Given the description of an element on the screen output the (x, y) to click on. 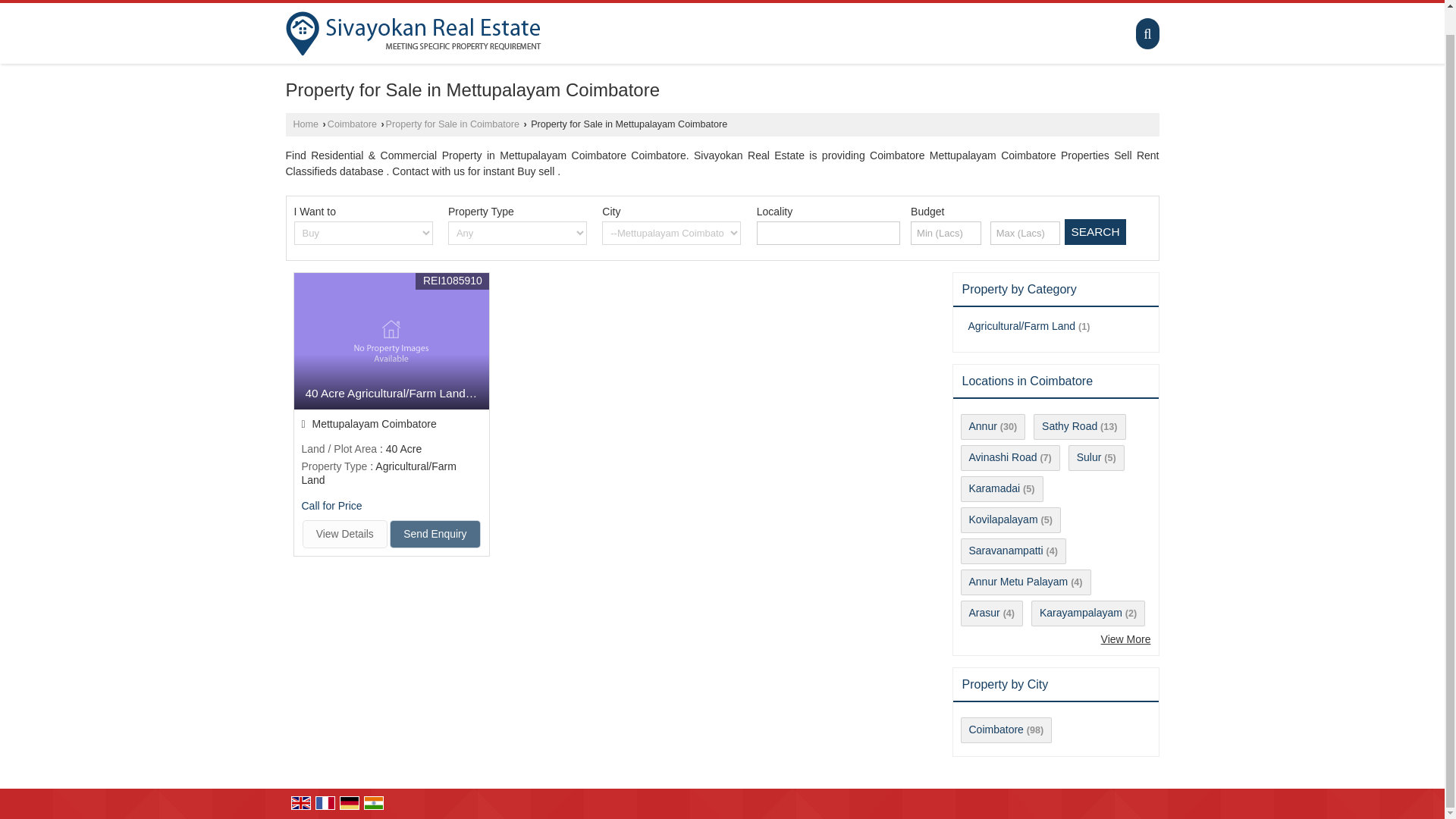
SEARCH (1094, 231)
Property for Sale in Coimbatore (452, 123)
Sivayokan Real Estate (412, 33)
Coimbatore (352, 123)
SEARCH (1094, 231)
Send Enquiry (435, 533)
View Details (344, 533)
Home (305, 123)
